Given the description of an element on the screen output the (x, y) to click on. 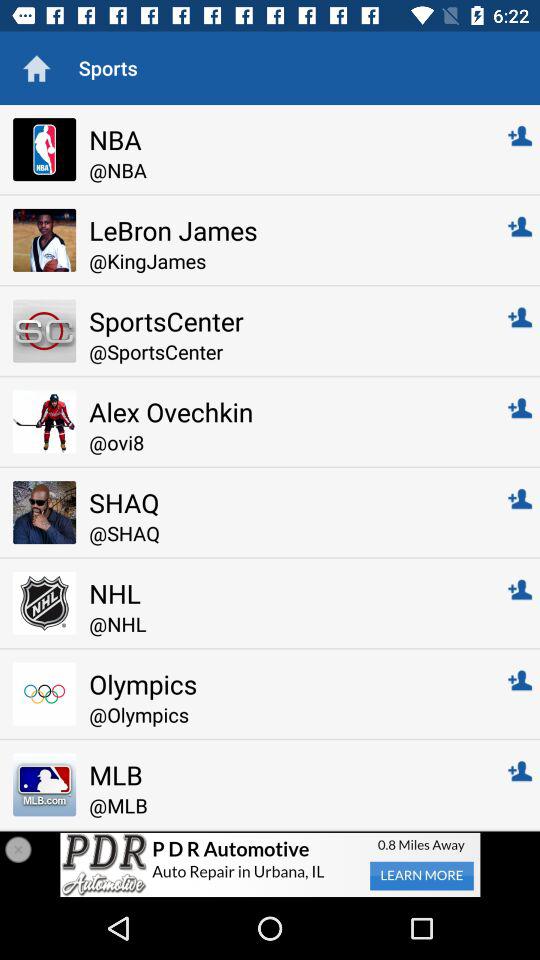
flip until lebron james item (284, 229)
